Given the description of an element on the screen output the (x, y) to click on. 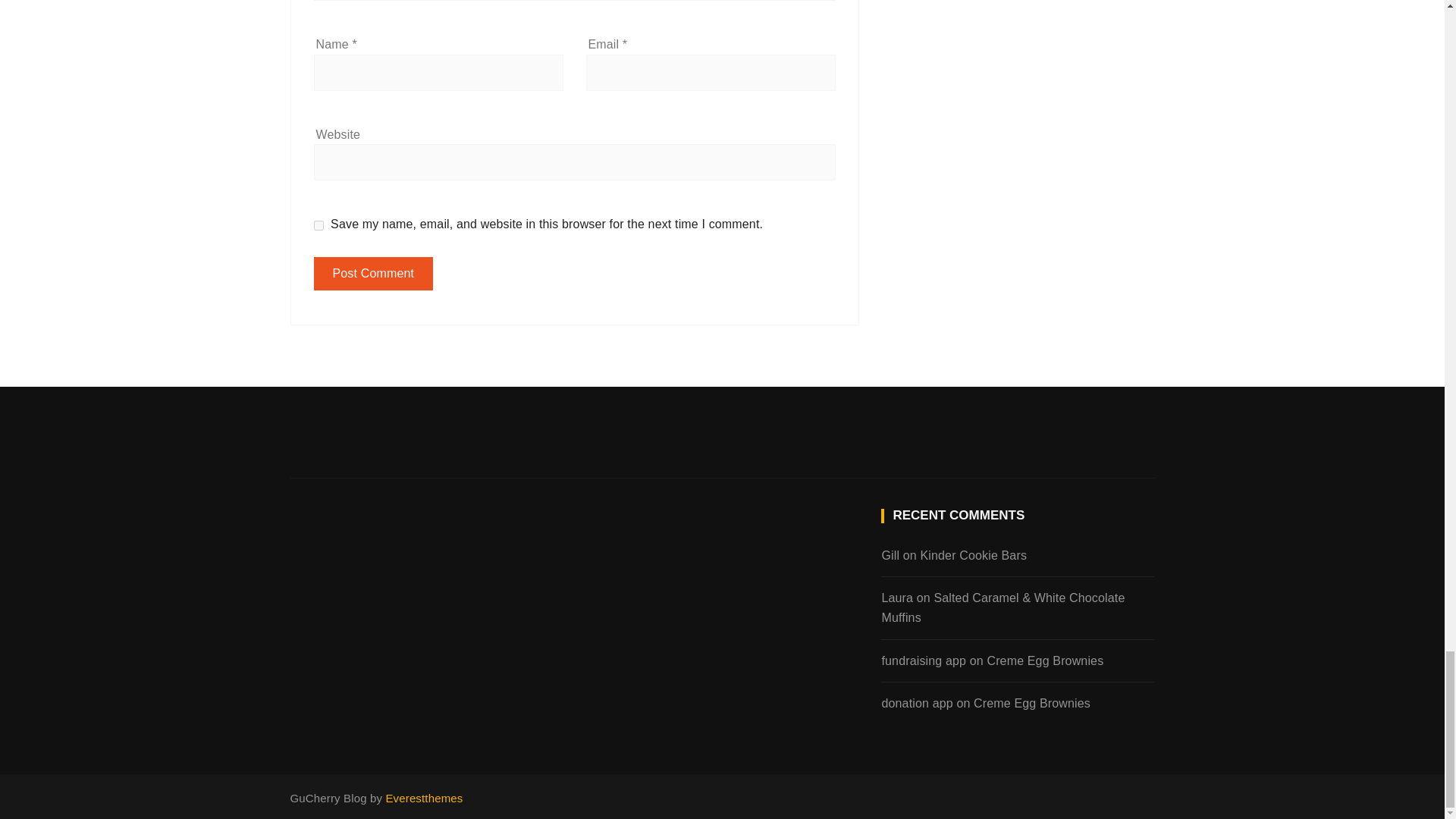
Post Comment (373, 273)
yes (318, 225)
